Given the description of an element on the screen output the (x, y) to click on. 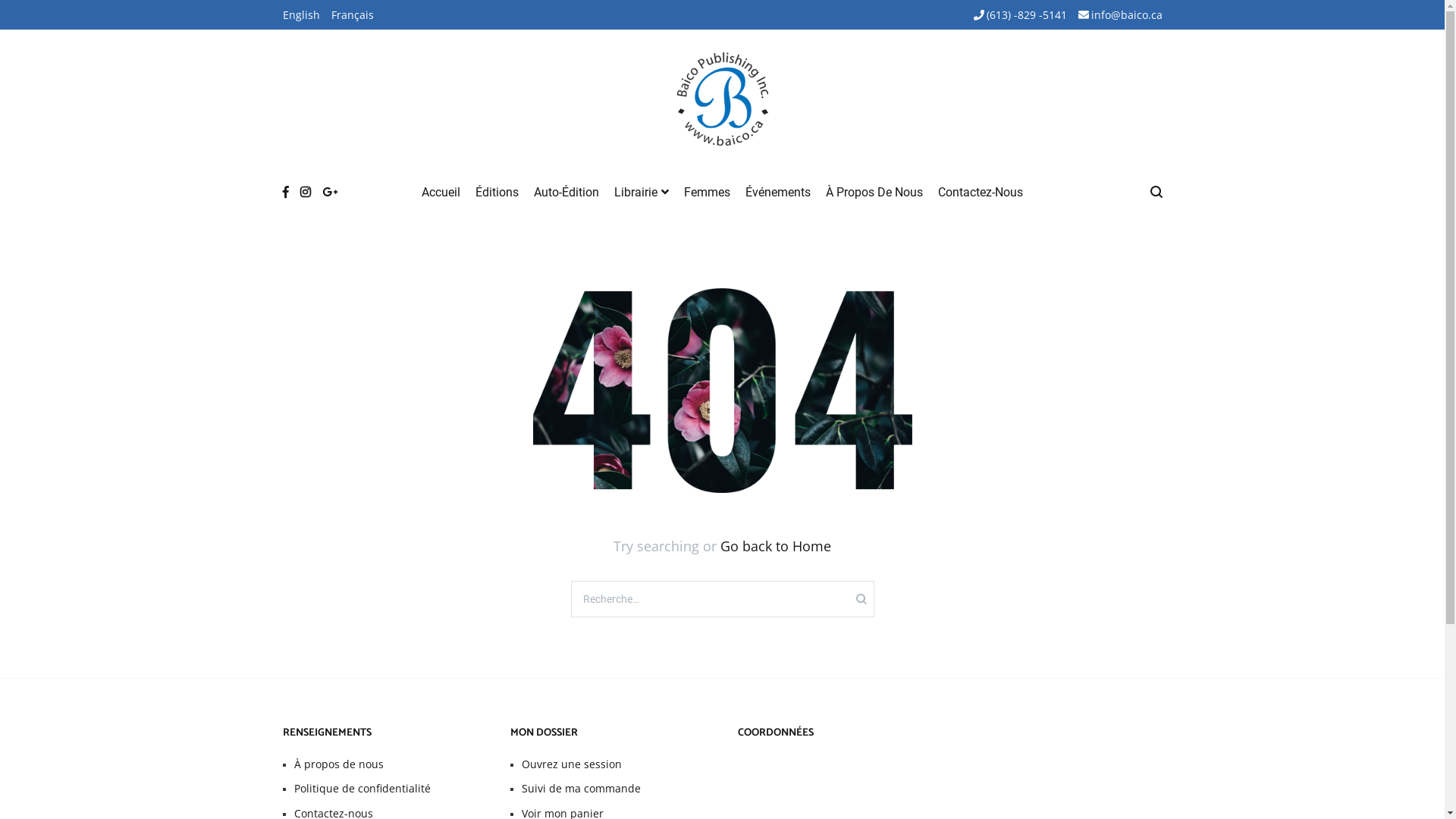
Contactez-Nous Element type: text (980, 192)
Ouvrez une session Element type: text (614, 764)
Rechercher Element type: text (52, 20)
Suivi de ma commande Element type: text (614, 788)
info@baico.ca Element type: text (1120, 15)
Librairie Element type: text (641, 192)
Femmes Element type: text (707, 192)
English Element type: text (300, 14)
Go back to Home Element type: text (775, 545)
(613) -829 -5141 Element type: text (1019, 15)
Accueil Element type: text (440, 192)
Rechercher Element type: text (56, 16)
Baico Element type: text (697, 184)
